Given the description of an element on the screen output the (x, y) to click on. 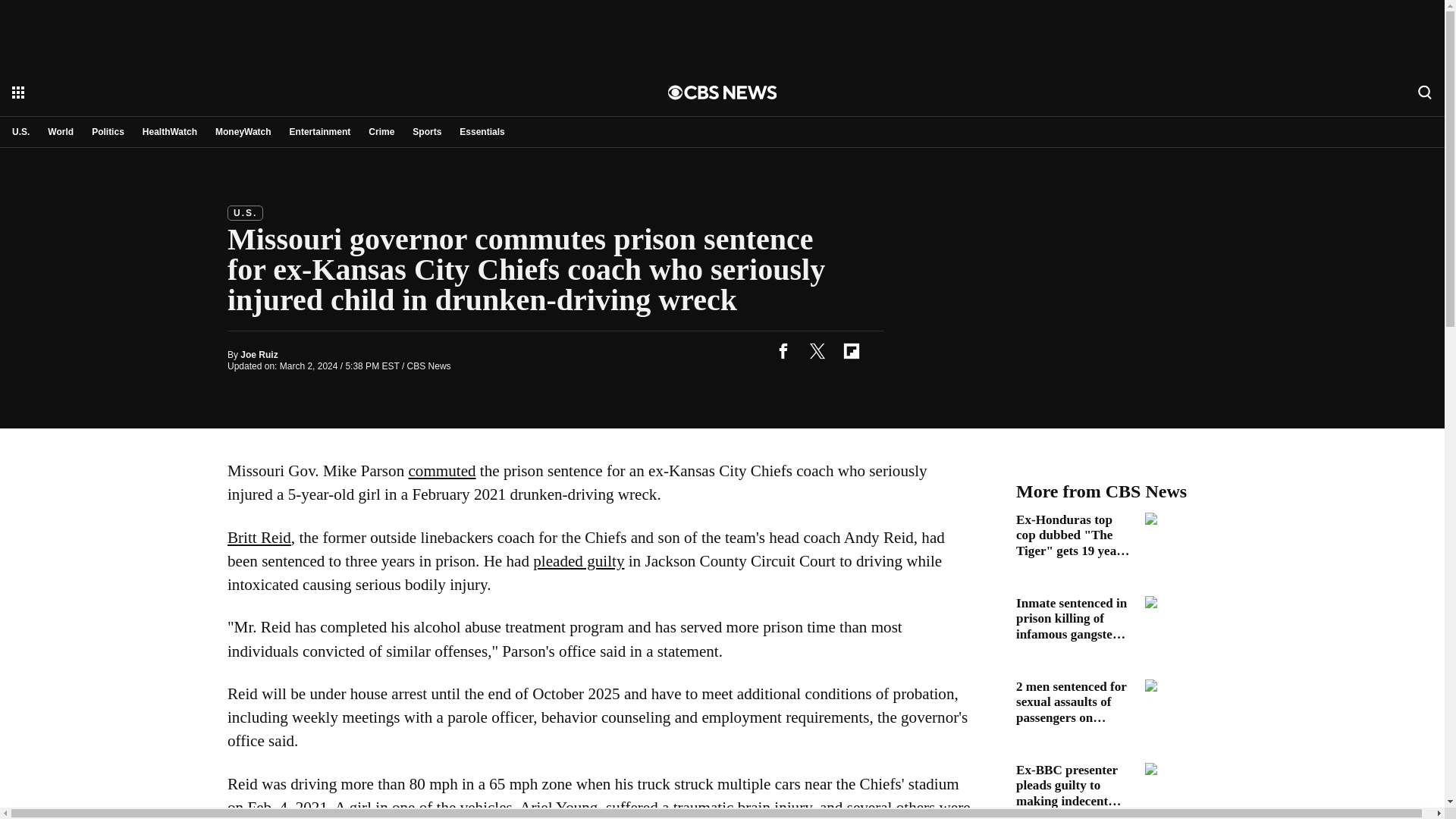
twitter (816, 350)
facebook (782, 350)
flipboard (850, 350)
